Given the description of an element on the screen output the (x, y) to click on. 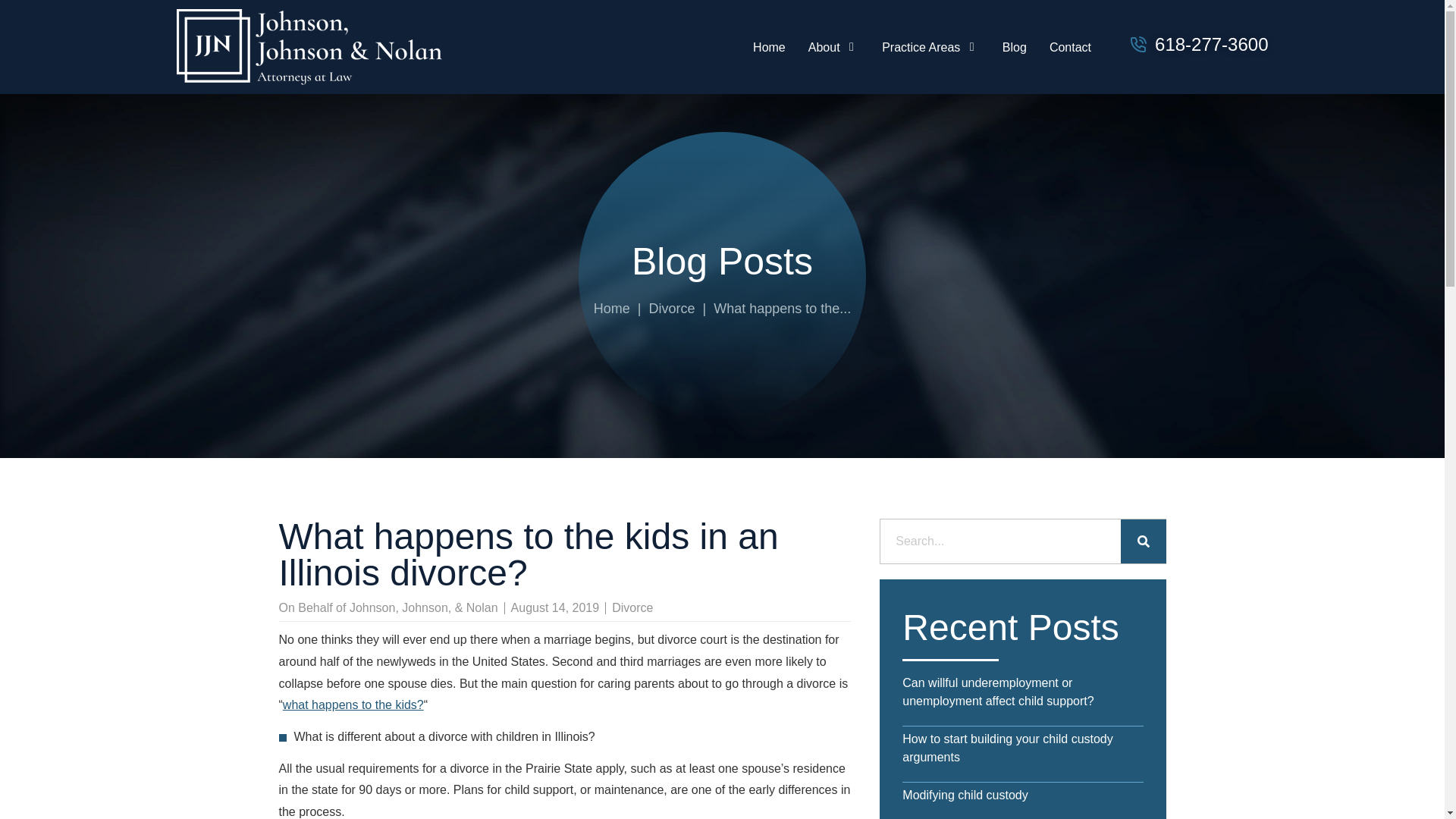
Divorce (785, 46)
What happens to the kids in an Illinois divorce? (670, 307)
About (781, 307)
Home (833, 46)
Home (769, 46)
Practice Areas (612, 307)
